Given the description of an element on the screen output the (x, y) to click on. 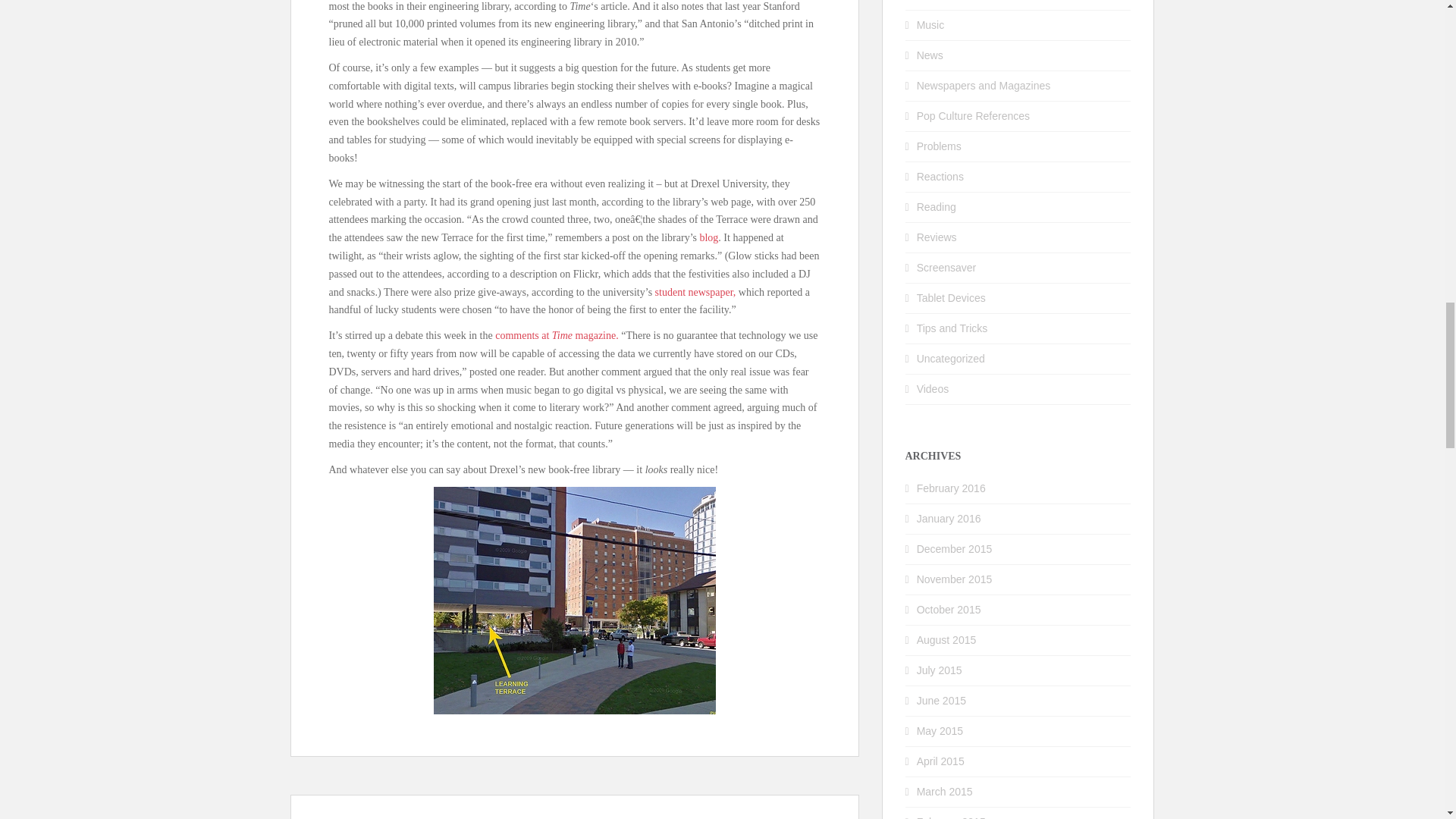
comments at Time magazine. (556, 335)
blog (707, 237)
student newspaper, (695, 292)
Drexel University Library Learning Terrace picture (574, 600)
